Given the description of an element on the screen output the (x, y) to click on. 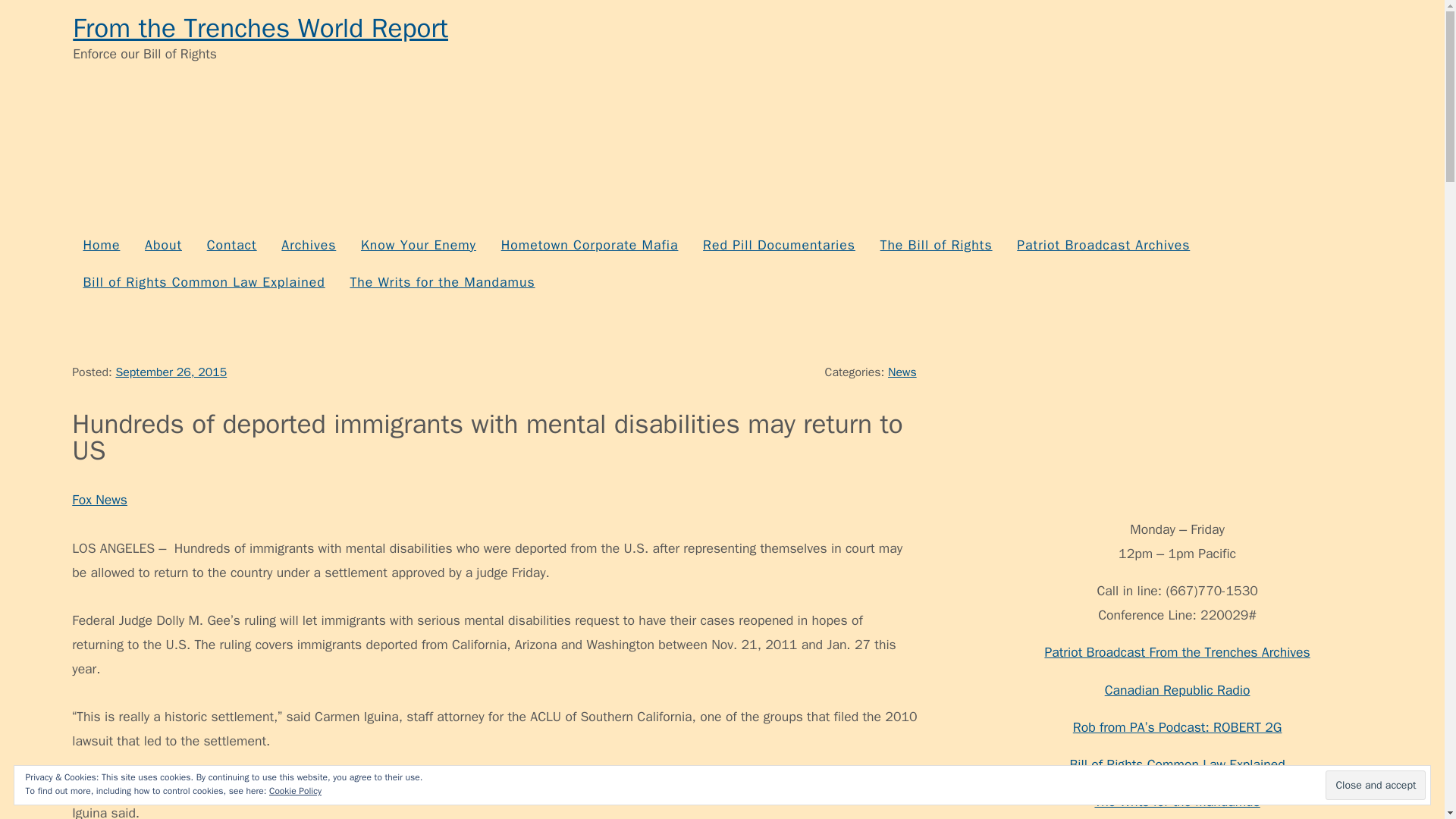
Home (100, 244)
Archives (308, 244)
Patriot Broadcast Archives (1103, 244)
About (163, 244)
Hometown Corporate Mafia (588, 244)
Red Pill Documentaries (778, 244)
The Writs for the Mandamus (441, 282)
From the Trenches World Report (260, 28)
Fox News (99, 499)
News (902, 372)
